Given the description of an element on the screen output the (x, y) to click on. 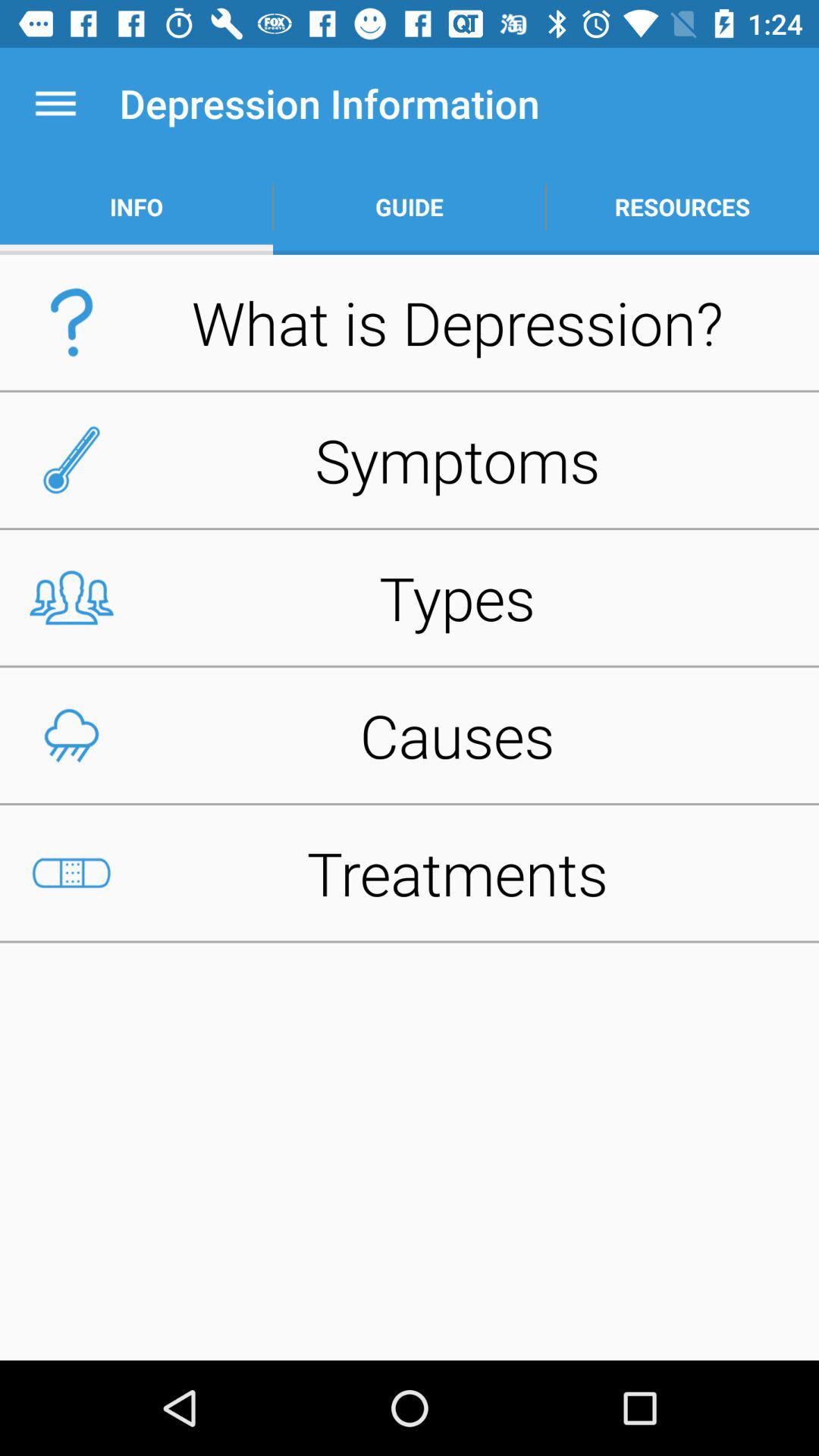
select the info (136, 206)
